Given the description of an element on the screen output the (x, y) to click on. 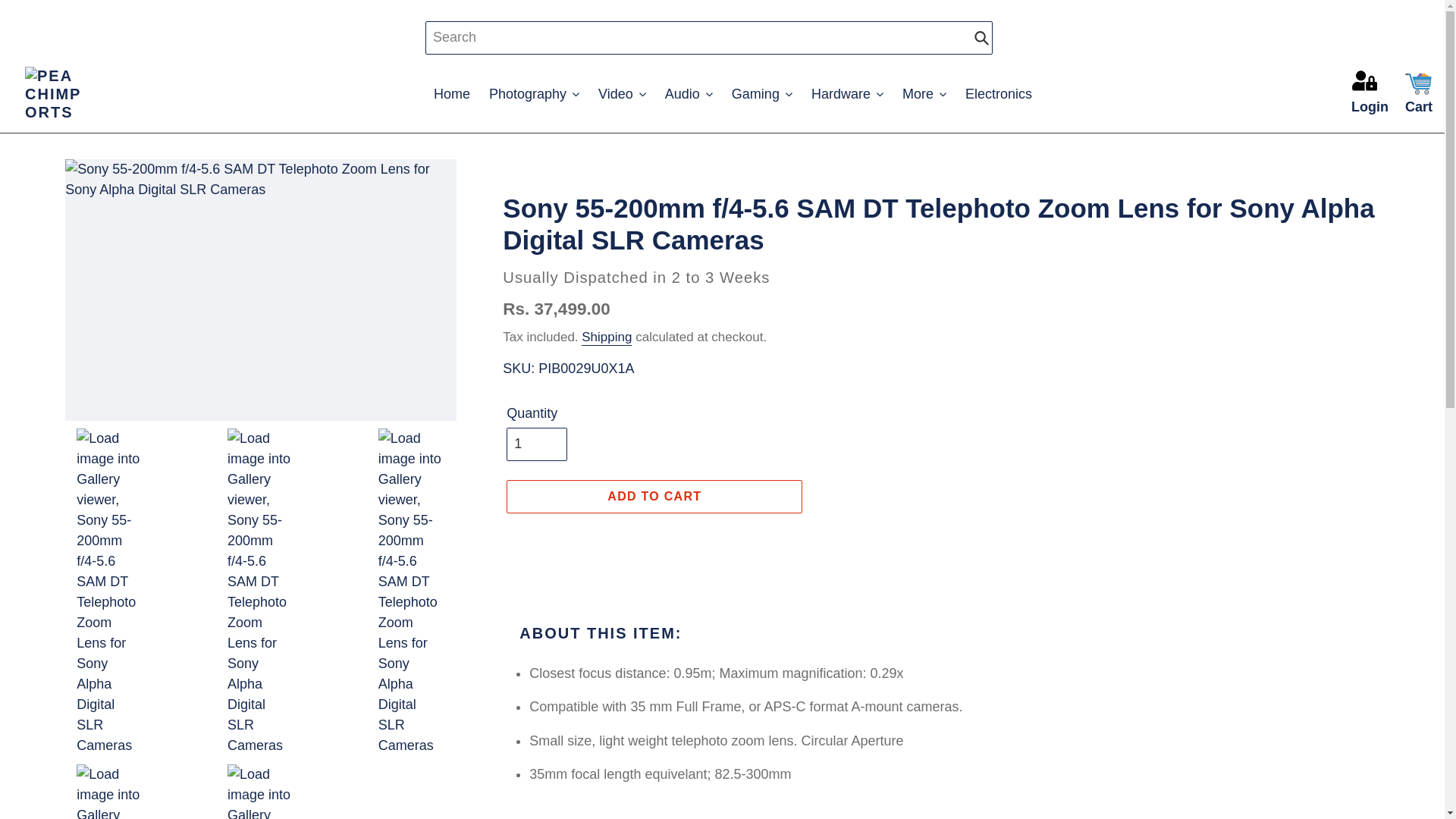
Hardware (847, 94)
Video (622, 94)
Photography (533, 94)
Electronics (998, 94)
Submit (981, 37)
Gaming (761, 94)
More (924, 94)
Close search (1009, 37)
Home (451, 94)
